Given the description of an element on the screen output the (x, y) to click on. 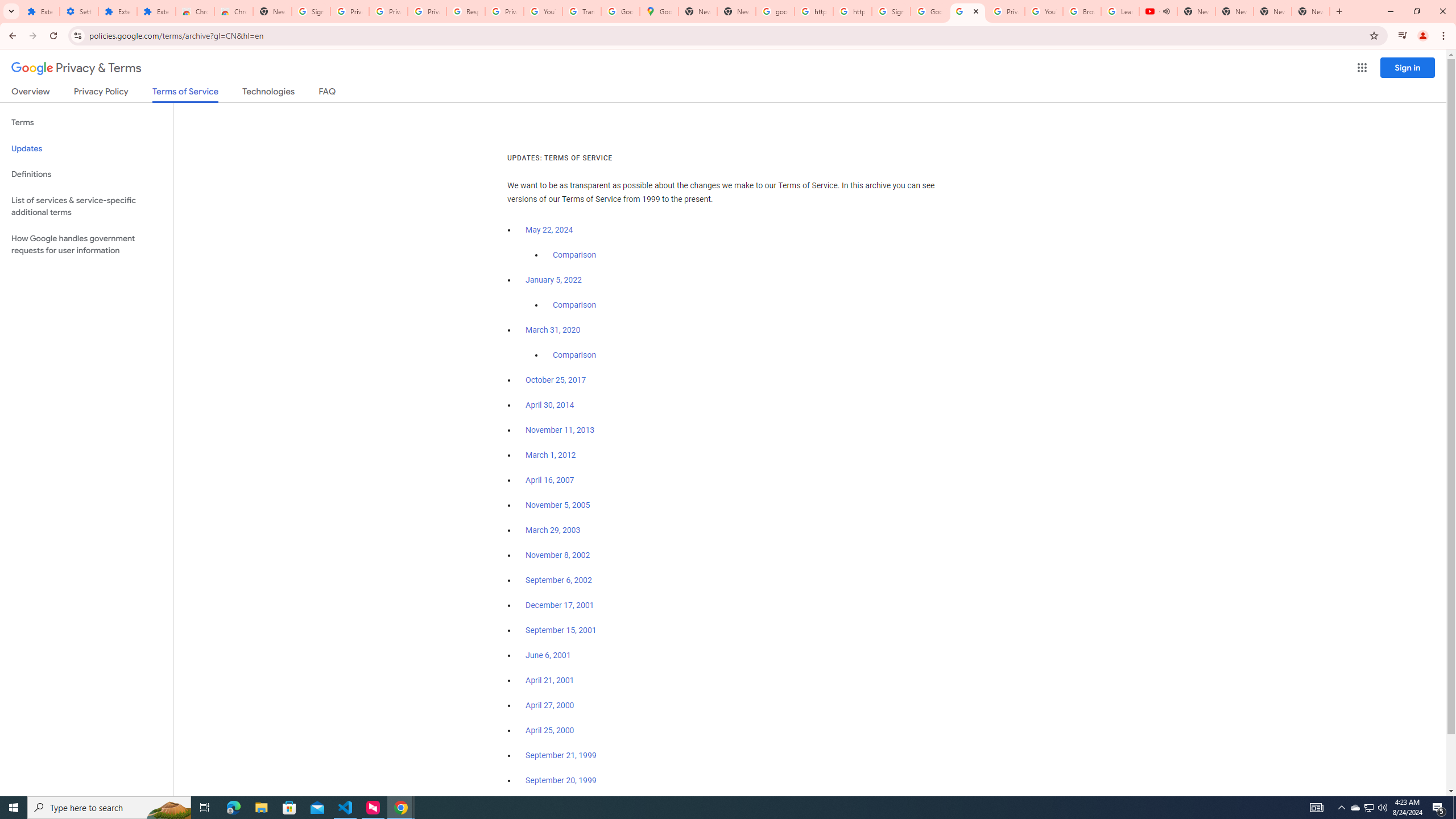
December 17, 2001 (559, 605)
Extensions (40, 11)
September 21, 1999 (560, 755)
April 27, 2000 (550, 705)
Sign in - Google Accounts (310, 11)
Chrome Web Store - Themes (233, 11)
November 8, 2002 (557, 555)
